Given the description of an element on the screen output the (x, y) to click on. 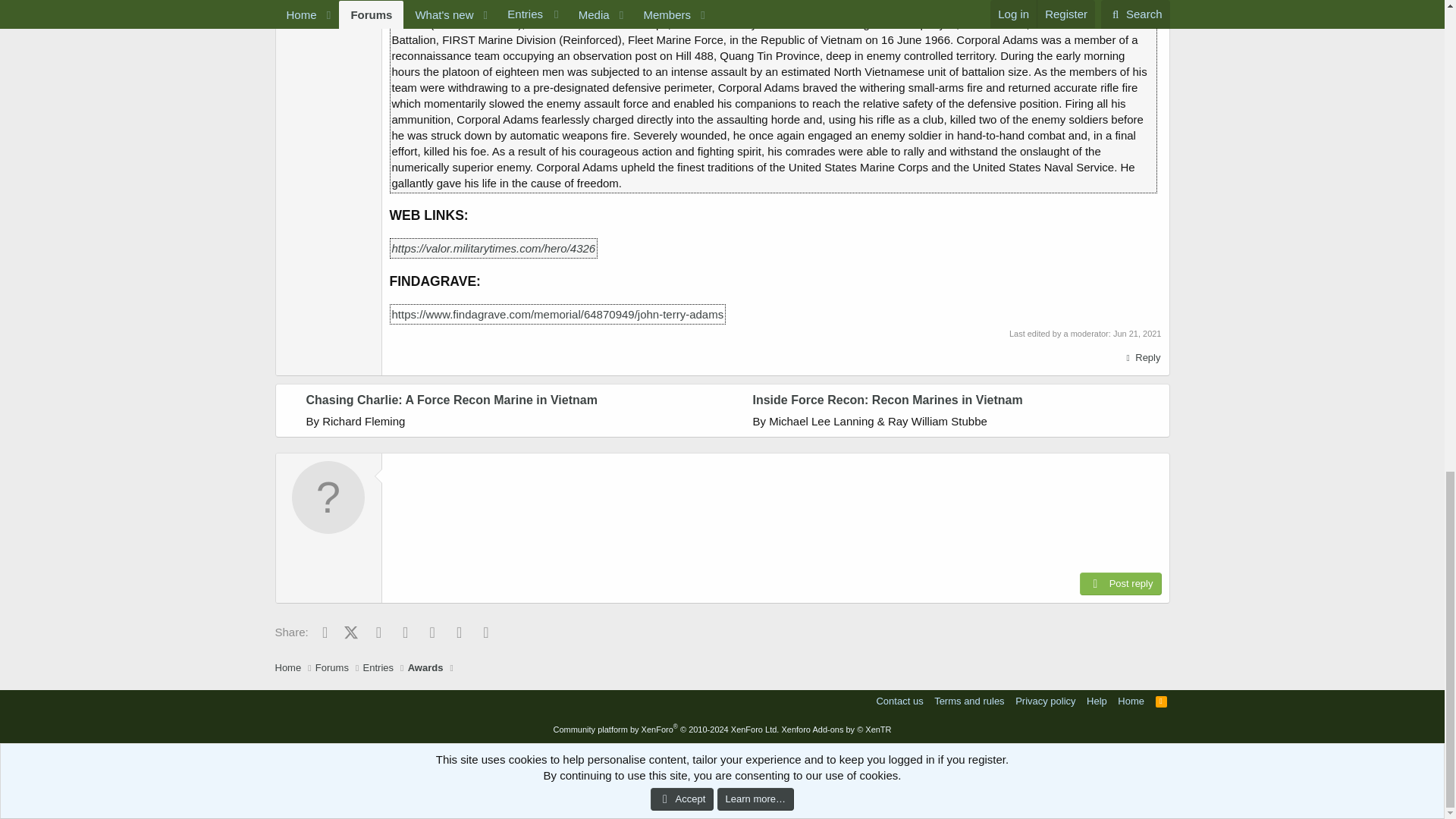
RSS (1161, 700)
Jun 21, 2021 at 12:10 PM (1137, 333)
Reply, quoting this message (1141, 357)
